Given the description of an element on the screen output the (x, y) to click on. 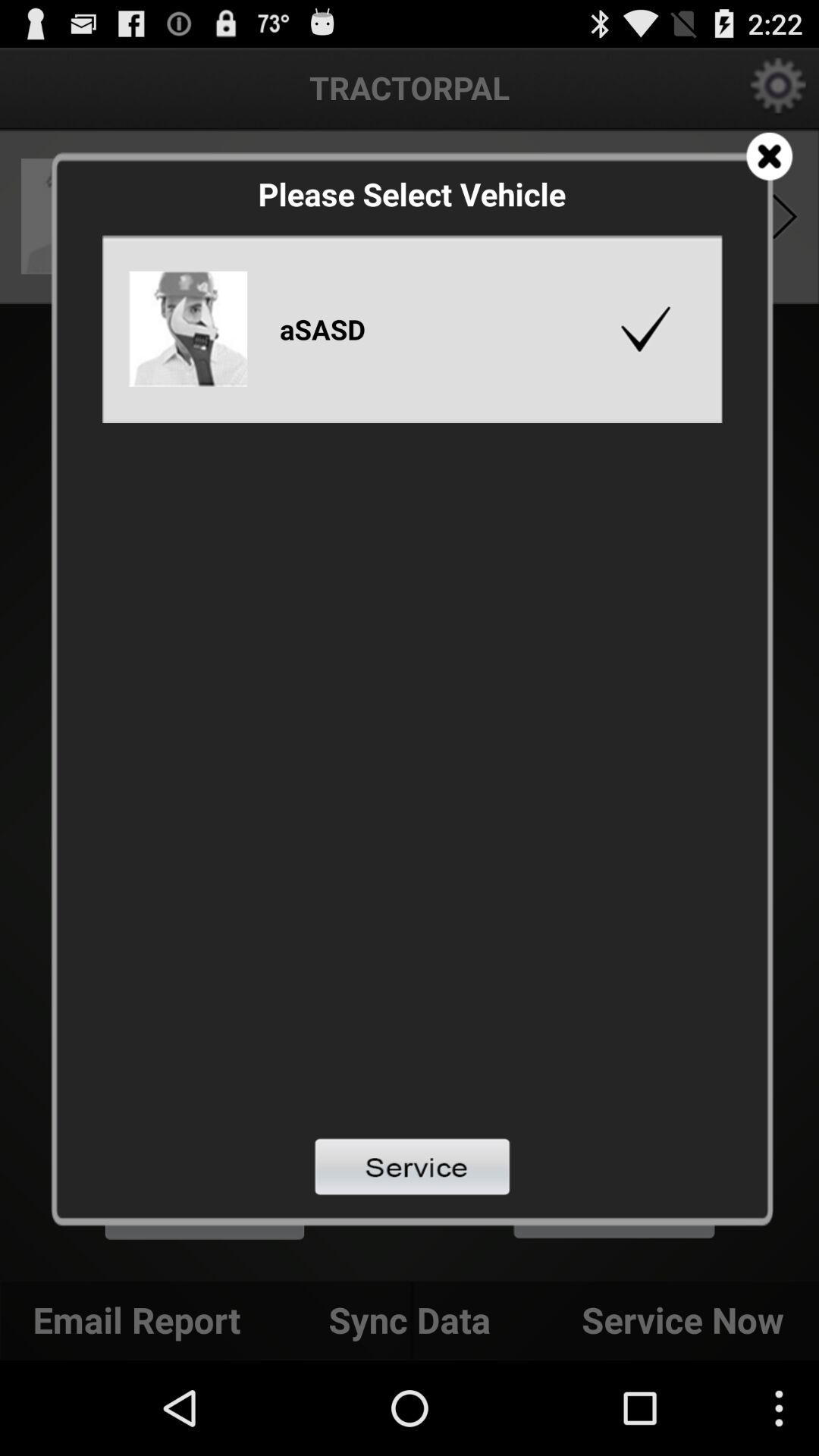
click for service (411, 1166)
